Given the description of an element on the screen output the (x, y) to click on. 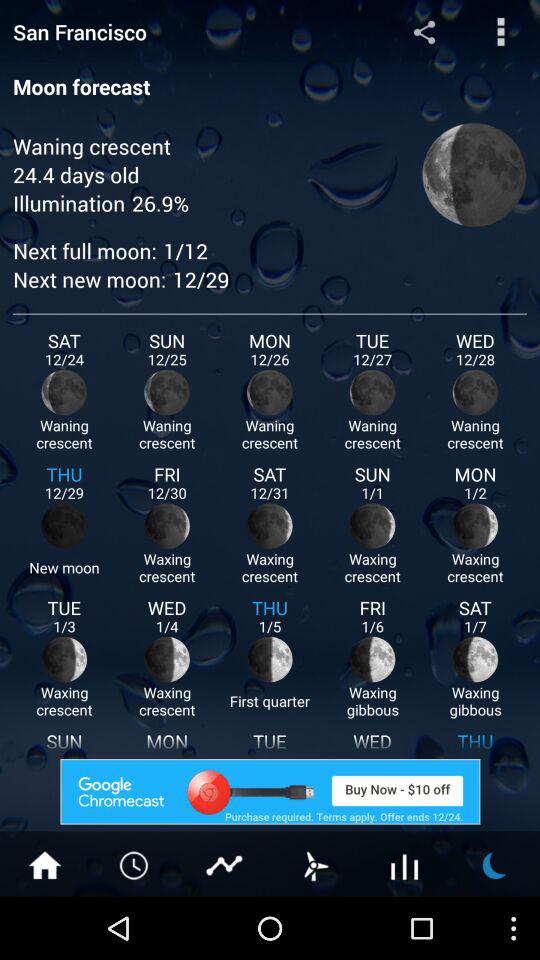
view history (135, 864)
